Given the description of an element on the screen output the (x, y) to click on. 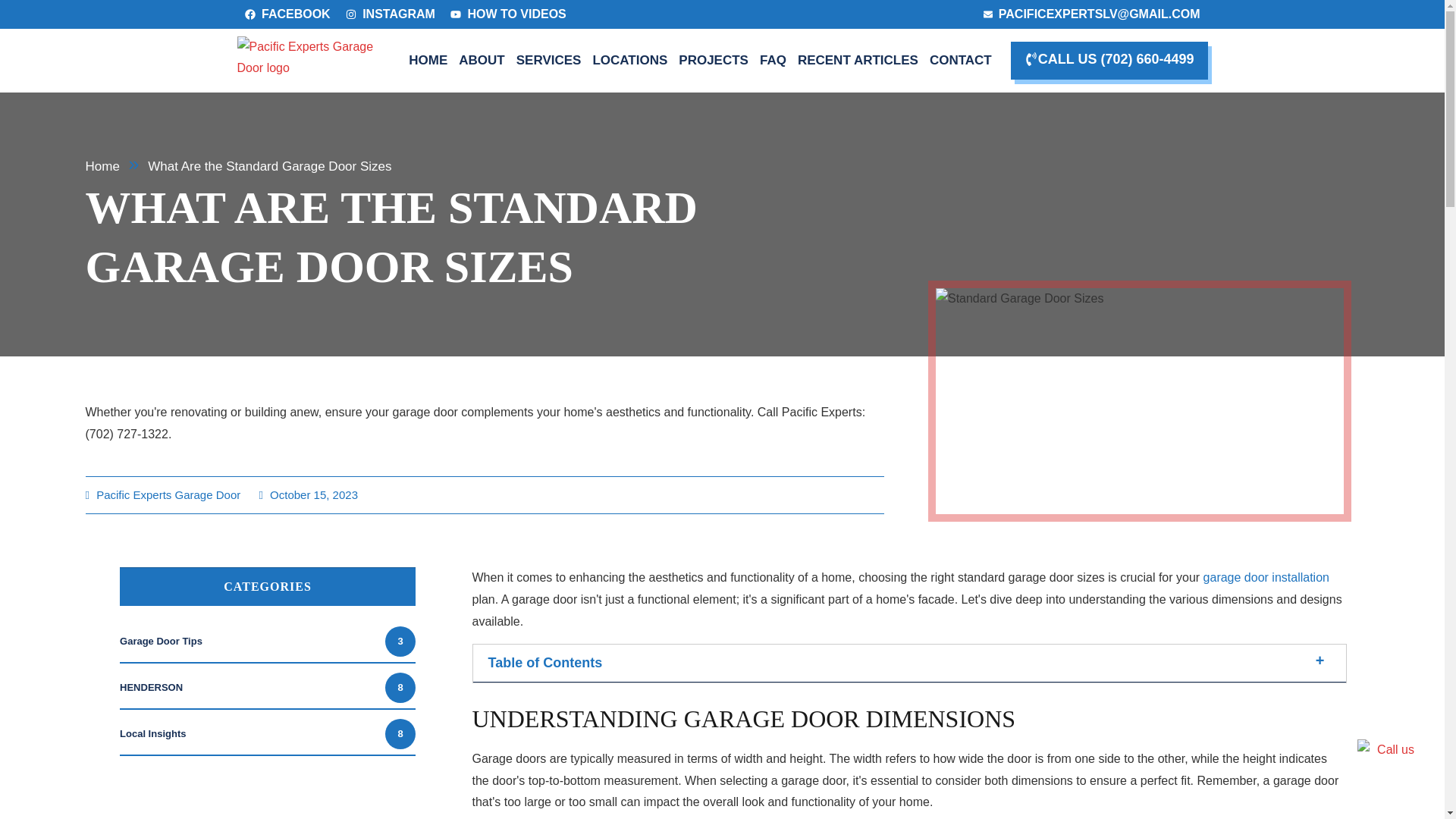
ABOUT (480, 59)
HOME (427, 59)
Call us - Pacific Experts Garage Door (1384, 767)
SERVICES (548, 59)
FACEBOOK (287, 14)
INSTAGRAM (390, 14)
Standard Garage Door Sizes - Pacific Experts Garage Door (1139, 397)
LOCATIONS (629, 59)
HOW TO VIDEOS (507, 14)
PROJECTS (713, 59)
